Given the description of an element on the screen output the (x, y) to click on. 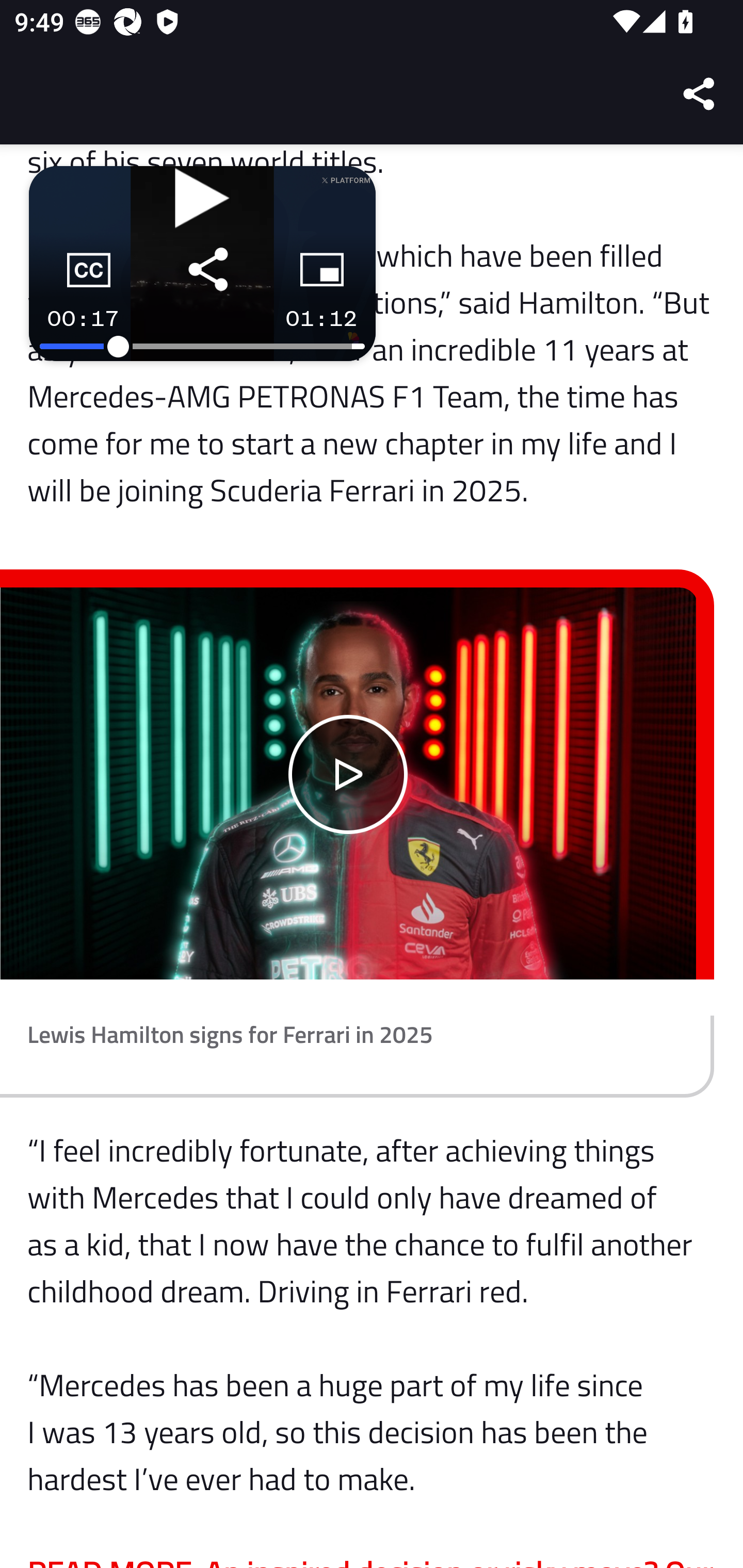
Share (699, 93)
Lewis Hamilton signs for Ferrari in 2025 - Image (349, 784)
